Given the description of an element on the screen output the (x, y) to click on. 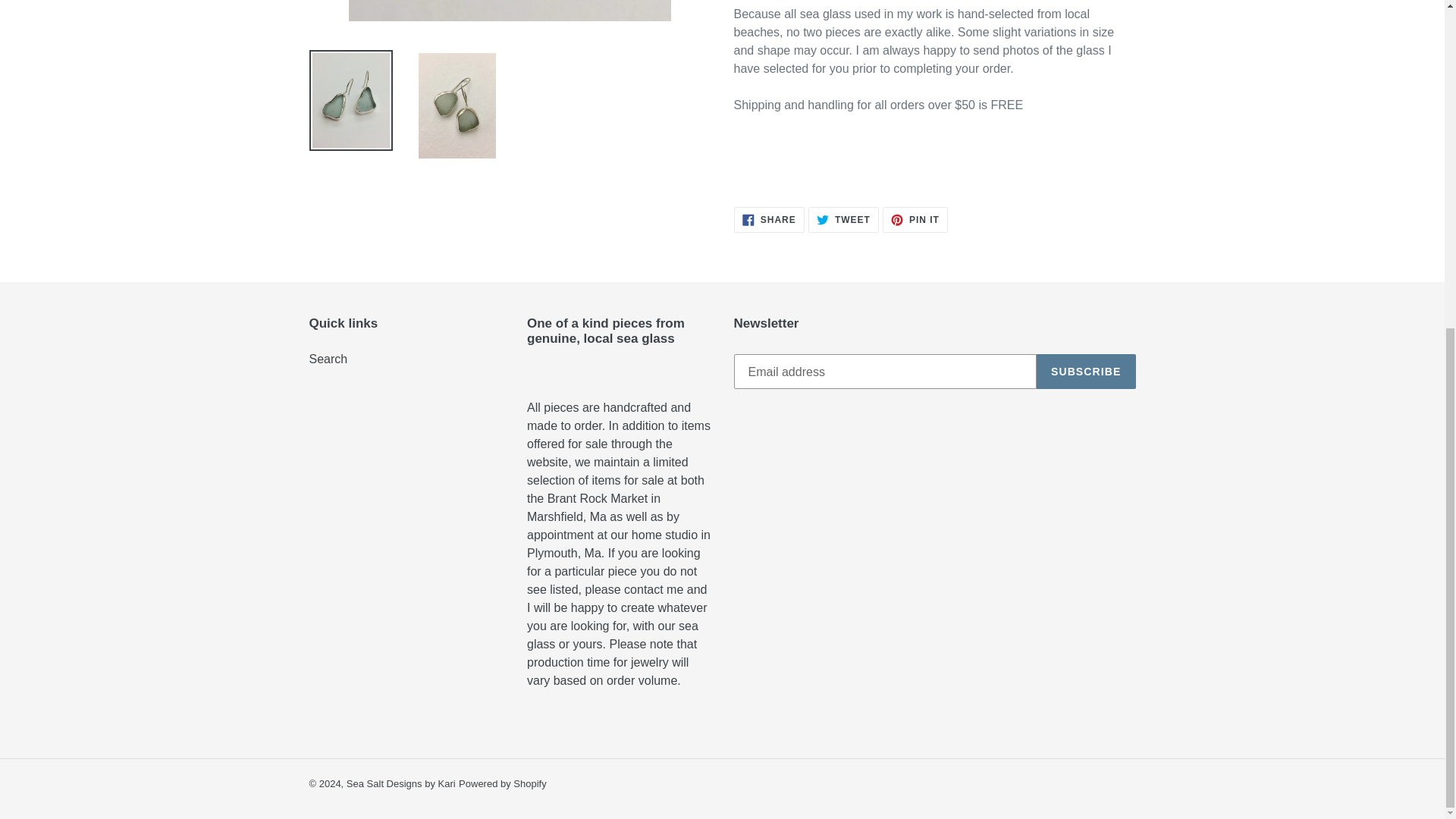
Sea Salt Designs by Kari (914, 219)
SUBSCRIBE (843, 219)
Search (400, 783)
Powered by Shopify (1085, 371)
